Given the description of an element on the screen output the (x, y) to click on. 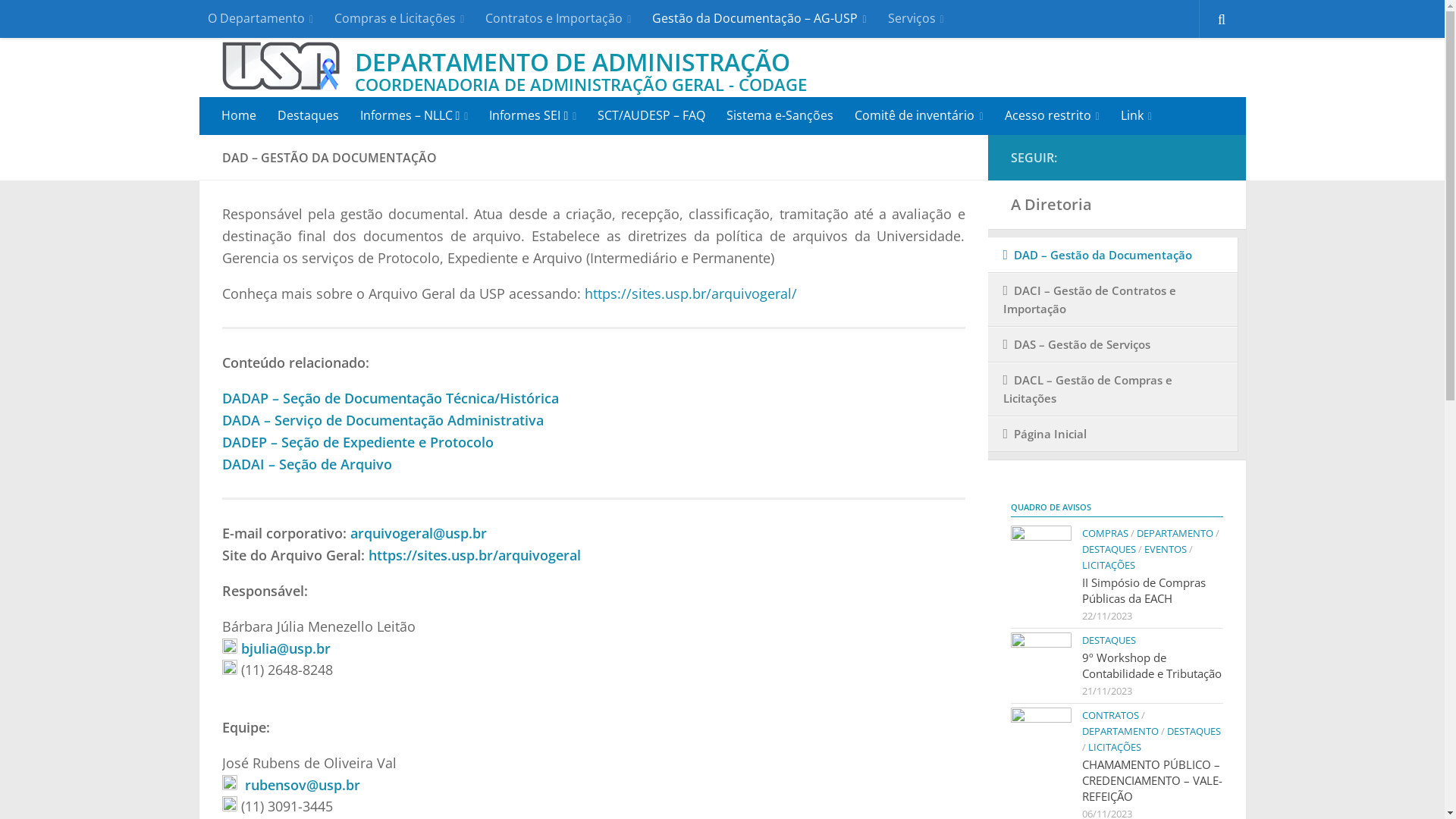
DEPARTAMENTO Element type: text (1119, 730)
bjulia@usp.br Element type: text (285, 648)
DESTAQUES Element type: text (1108, 548)
COMPRAS Element type: text (1104, 532)
arquivogeral@usp.br Element type: text (418, 533)
Acesso restrito Element type: text (1052, 115)
https://sites.usp.br/arquivogeral/ Element type: text (689, 293)
A Diretoria Element type: text (1116, 204)
DESTAQUES Element type: text (1193, 730)
https://sites.usp.br/arquivogeral Element type: text (474, 555)
CONTRATOS Element type: text (1109, 714)
DEPARTAMENTO Element type: text (1173, 532)
Home Element type: text (238, 115)
rubensov@usp.br Element type: text (301, 784)
EVENTOS Element type: text (1164, 548)
Link Element type: text (1136, 115)
DESTAQUES Element type: text (1108, 639)
Destaques Element type: text (307, 115)
O Departamento Element type: text (260, 18)
